Given the description of an element on the screen output the (x, y) to click on. 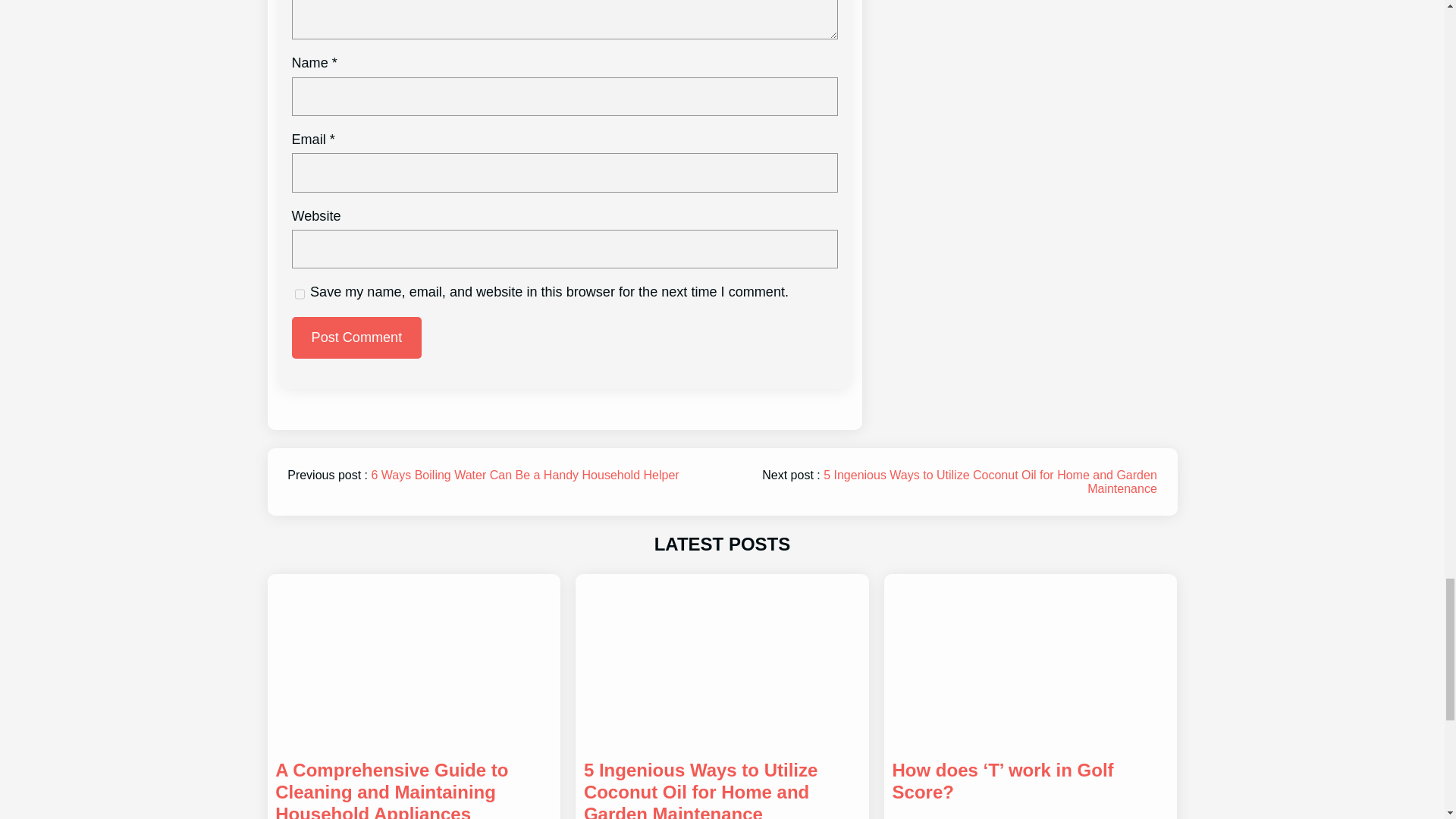
Post Comment (356, 337)
Post Comment (356, 337)
How does 'T' work in Golf Score? 13 (1030, 662)
6 Ways Boiling Water Can Be a Handy Household Helper (525, 474)
